Given the description of an element on the screen output the (x, y) to click on. 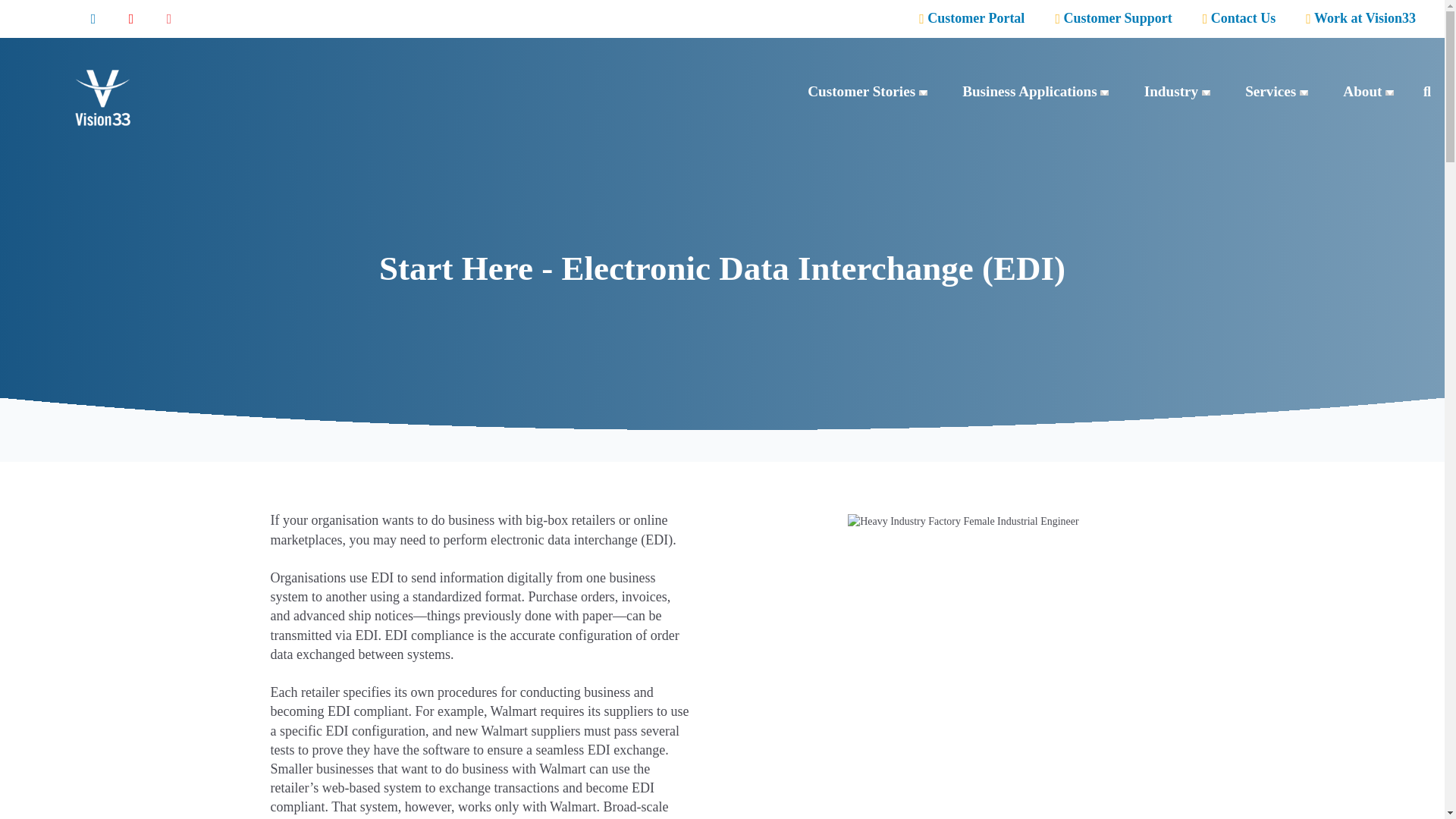
Industry (1171, 91)
 Customer Support (1112, 18)
Customer Stories (861, 91)
Business Applications (1029, 91)
SAP Business One - Sage Intacct - S4 Hana Global Partners (103, 97)
 Work at Vision33 (1360, 18)
 Customer Portal (971, 18)
Show submenu for Customer Stories (922, 92)
 Contact Us (1239, 18)
Show submenu for Business Applications (1104, 92)
